Given the description of an element on the screen output the (x, y) to click on. 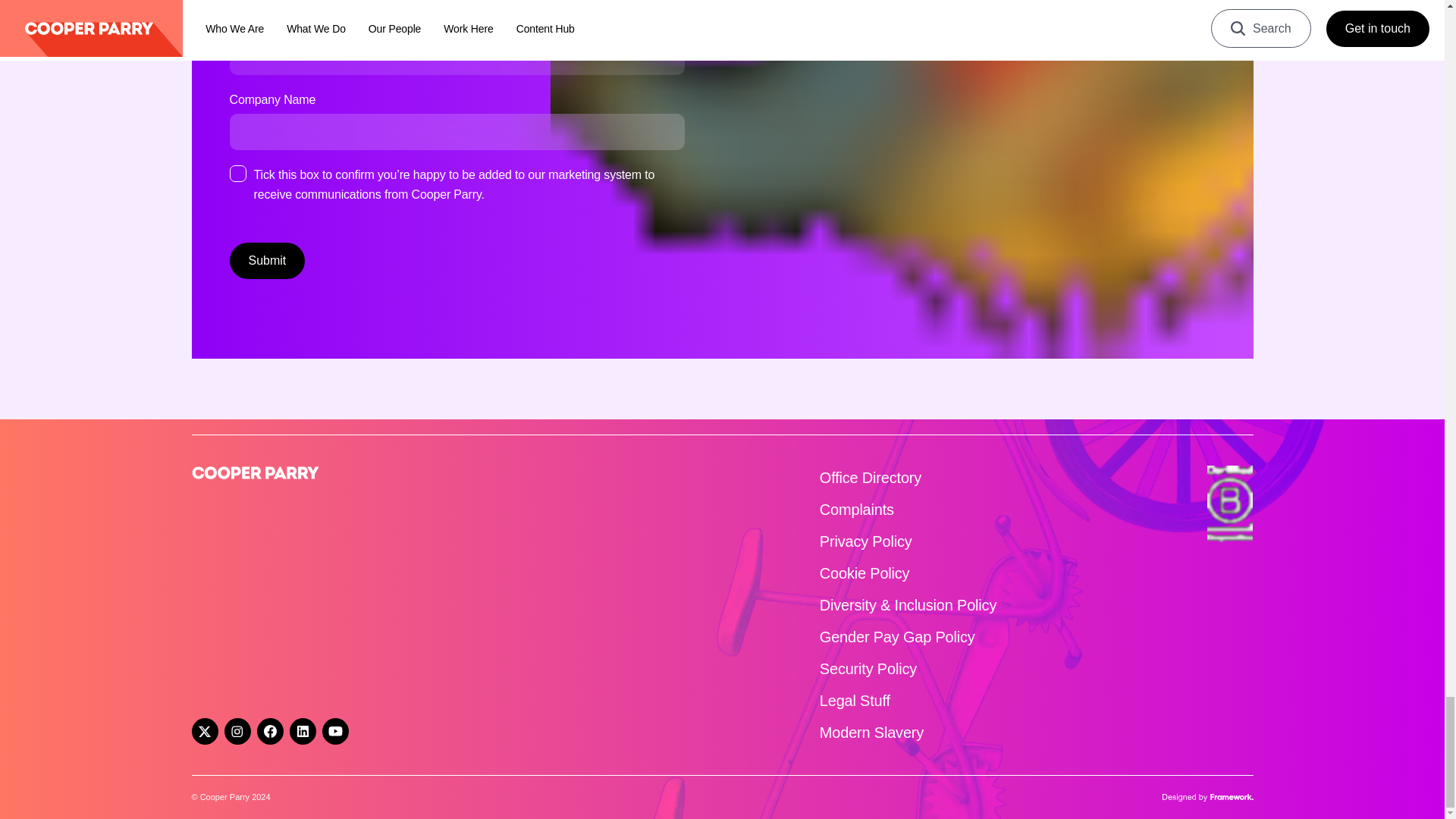
on (237, 173)
Submit (266, 260)
